Given the description of an element on the screen output the (x, y) to click on. 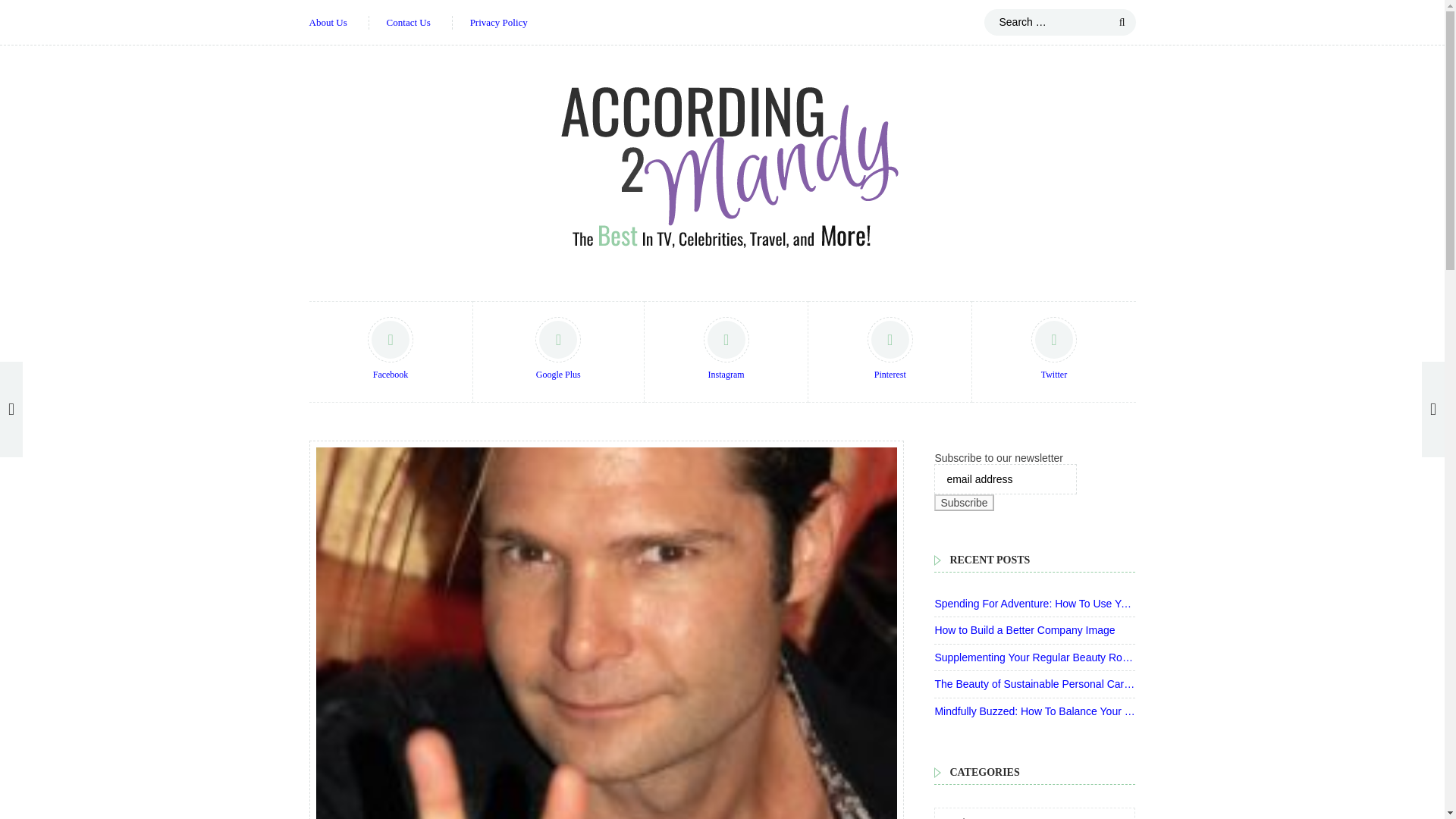
Search for: (1059, 22)
Google Plus (558, 352)
Subscribe (963, 502)
Twitter (1053, 352)
Instagram (725, 352)
Pinterest (890, 352)
Facebook (390, 352)
Twitter (1053, 352)
Google Plus (558, 352)
Privacy Policy (498, 22)
Contact Us (408, 22)
About Us (327, 22)
Facebook (390, 352)
Pinterest (890, 352)
Instagram (725, 352)
